Given the description of an element on the screen output the (x, y) to click on. 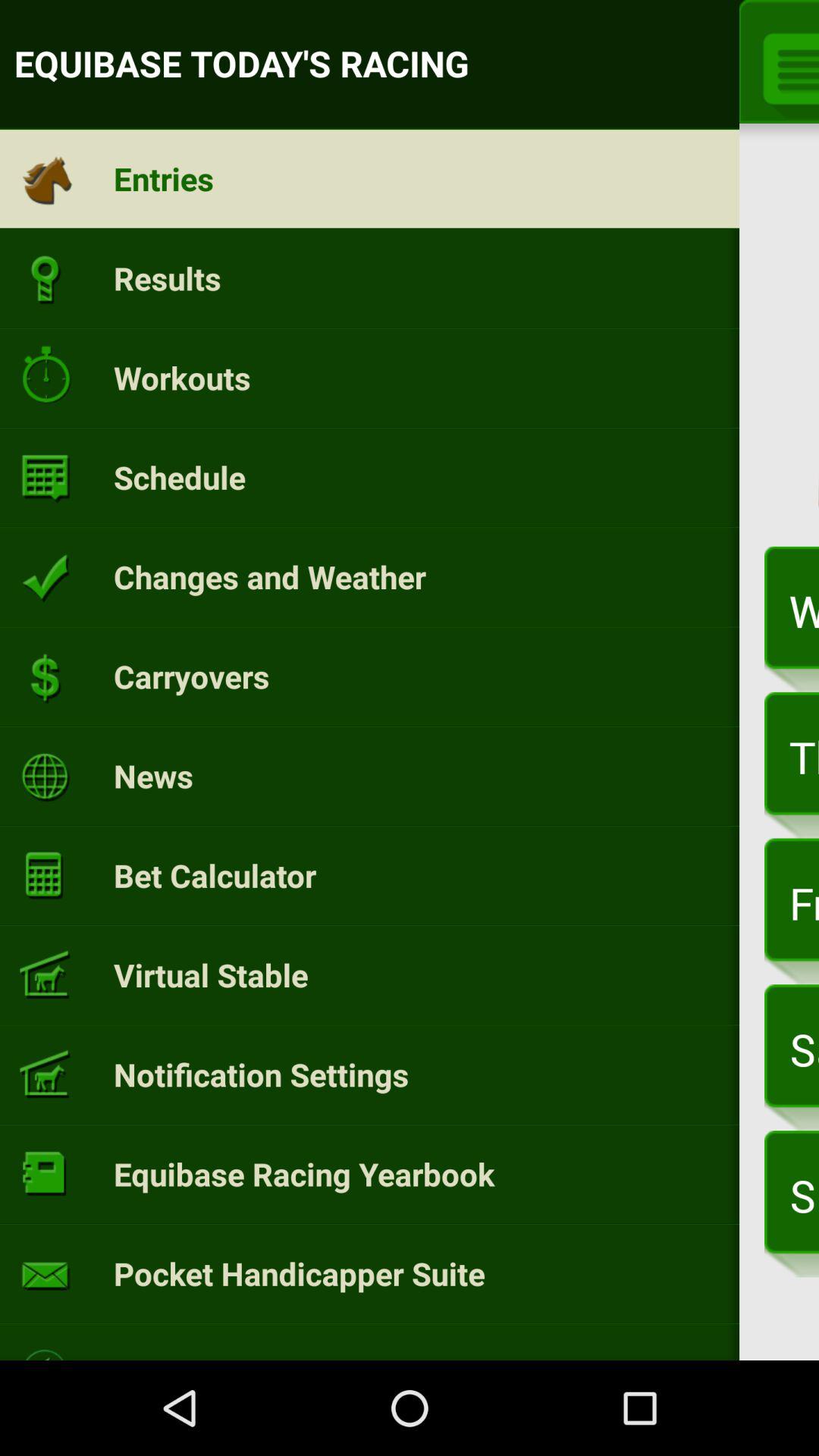
jump to the results icon (167, 277)
